Given the description of an element on the screen output the (x, y) to click on. 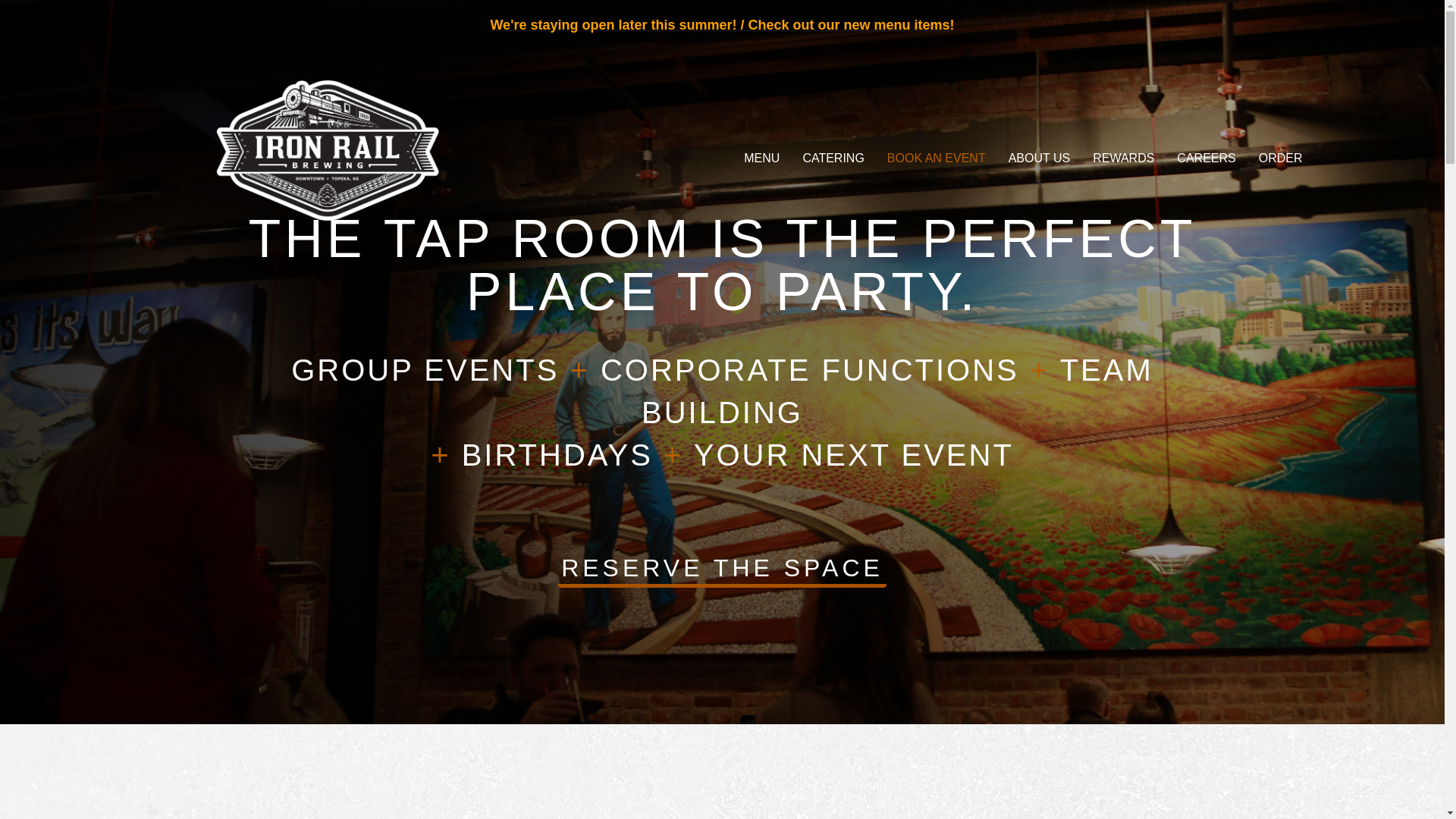
MENU (761, 157)
